Given the description of an element on the screen output the (x, y) to click on. 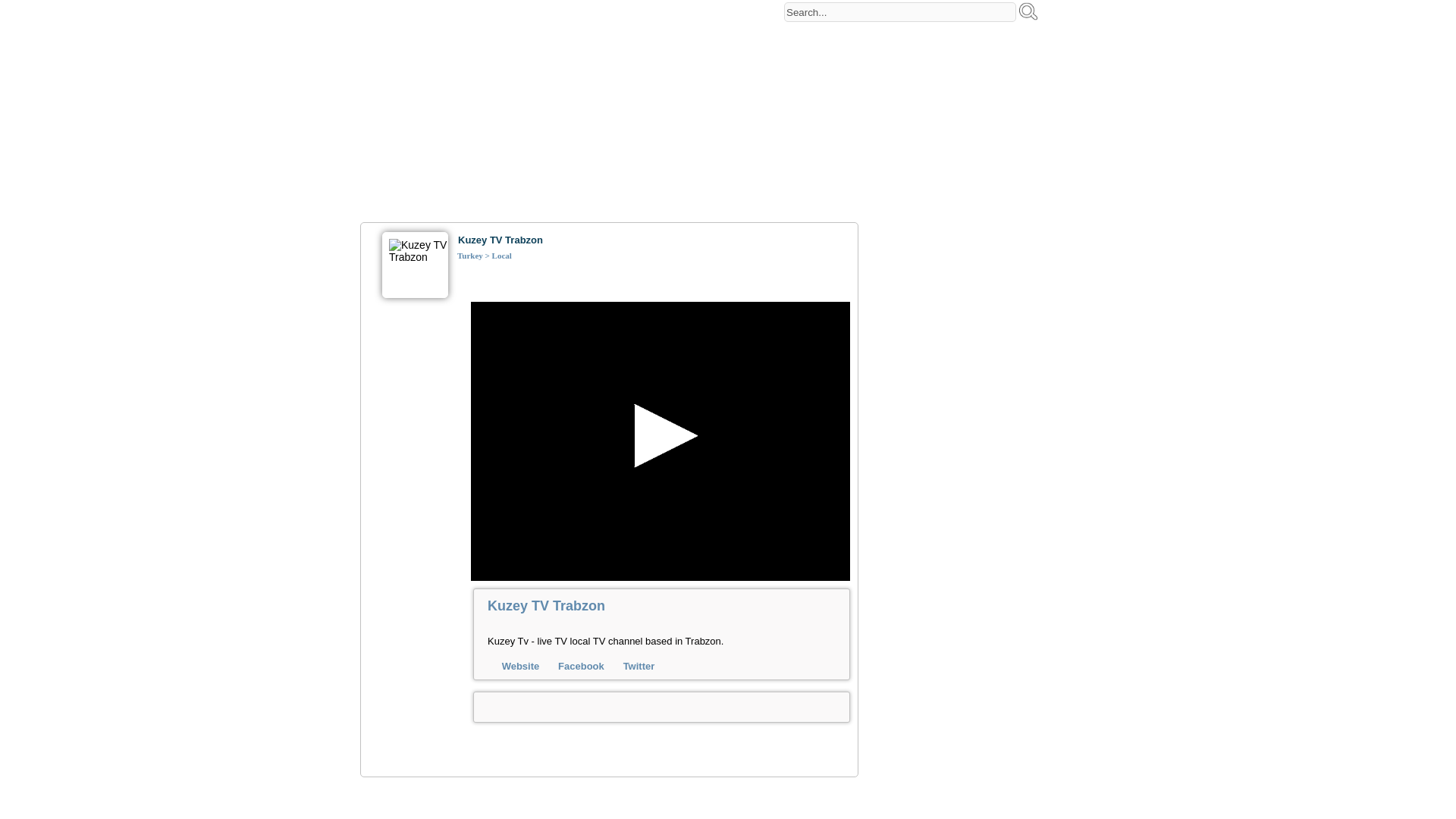
Music (566, 91)
Television-Planet.Tv - Tv Online (526, 33)
Search (1027, 11)
Lifestyle (740, 91)
Kids (847, 91)
Public (435, 91)
Turkey (529, 117)
Business (798, 91)
Radio Online New! (971, 87)
Turkey (470, 255)
Search... (900, 12)
TV Stations (479, 117)
Facebook (580, 665)
Religion (893, 91)
Home (386, 91)
